Given the description of an element on the screen output the (x, y) to click on. 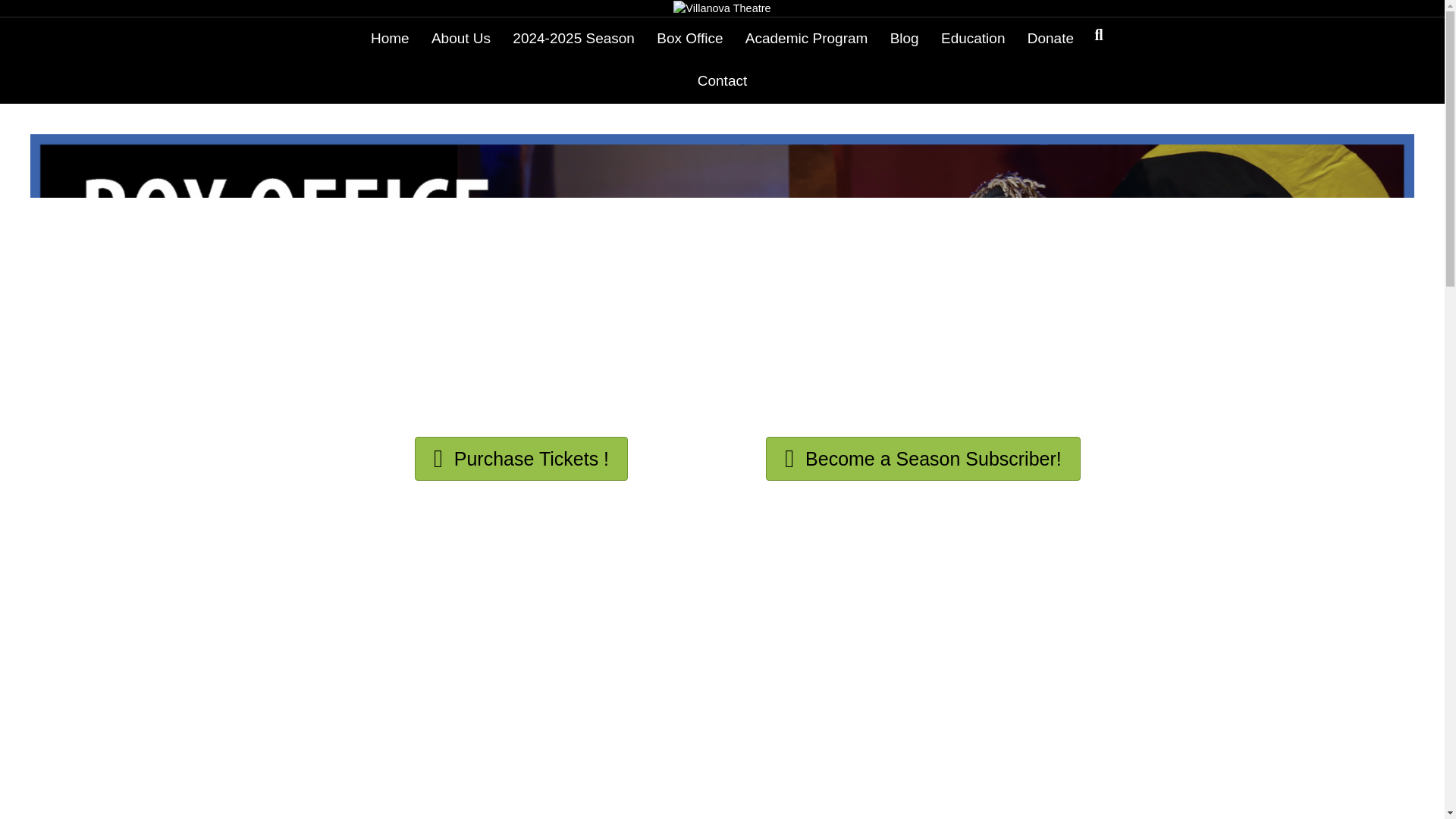
Home (390, 38)
Box Office (689, 38)
About Us (460, 38)
2024-2025 Season (573, 38)
